Given the description of an element on the screen output the (x, y) to click on. 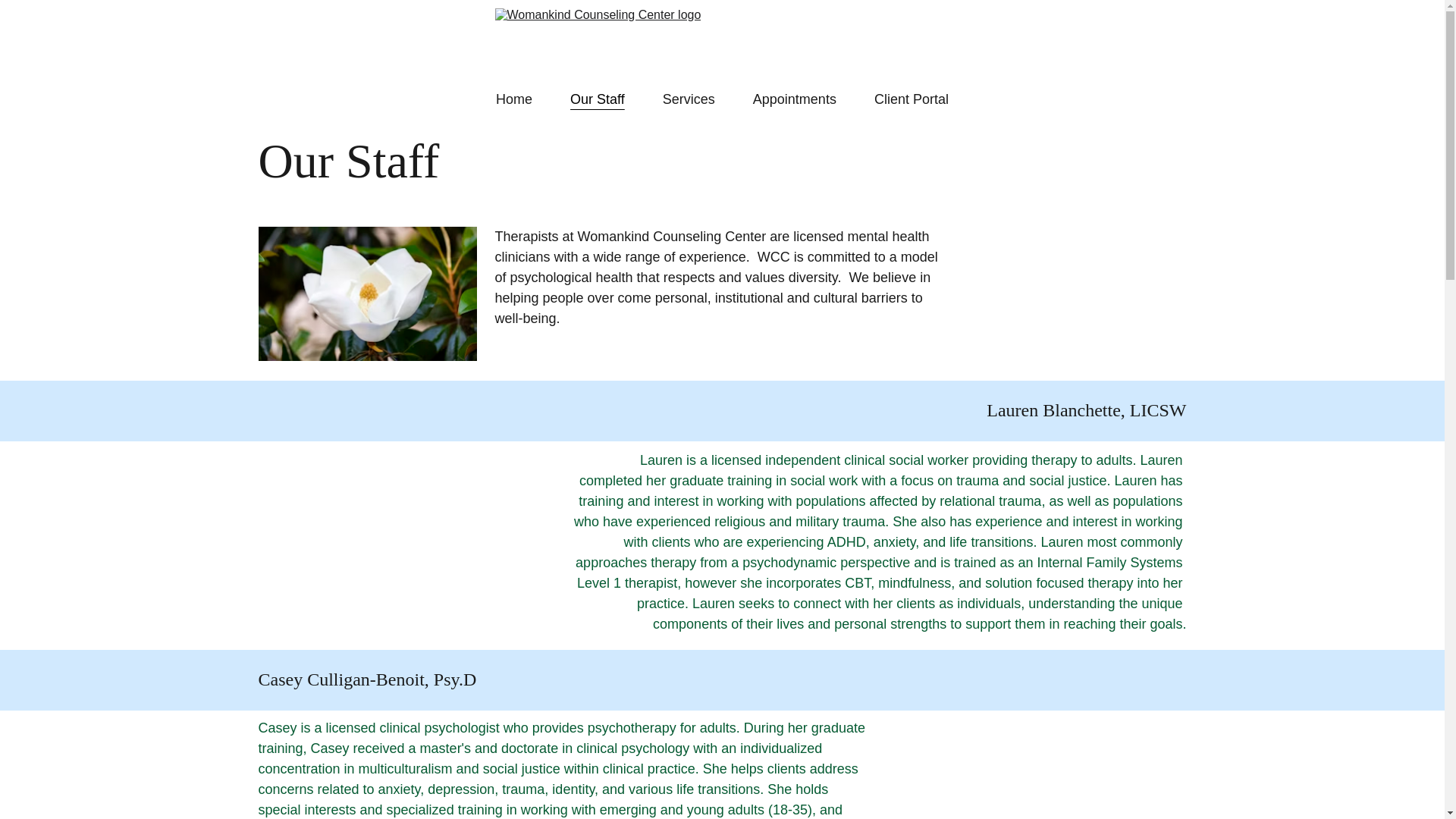
Services (688, 99)
Appointments (793, 99)
white petaled flower (366, 293)
Home (514, 99)
Our Staff (597, 99)
Client Portal (912, 99)
